Given the description of an element on the screen output the (x, y) to click on. 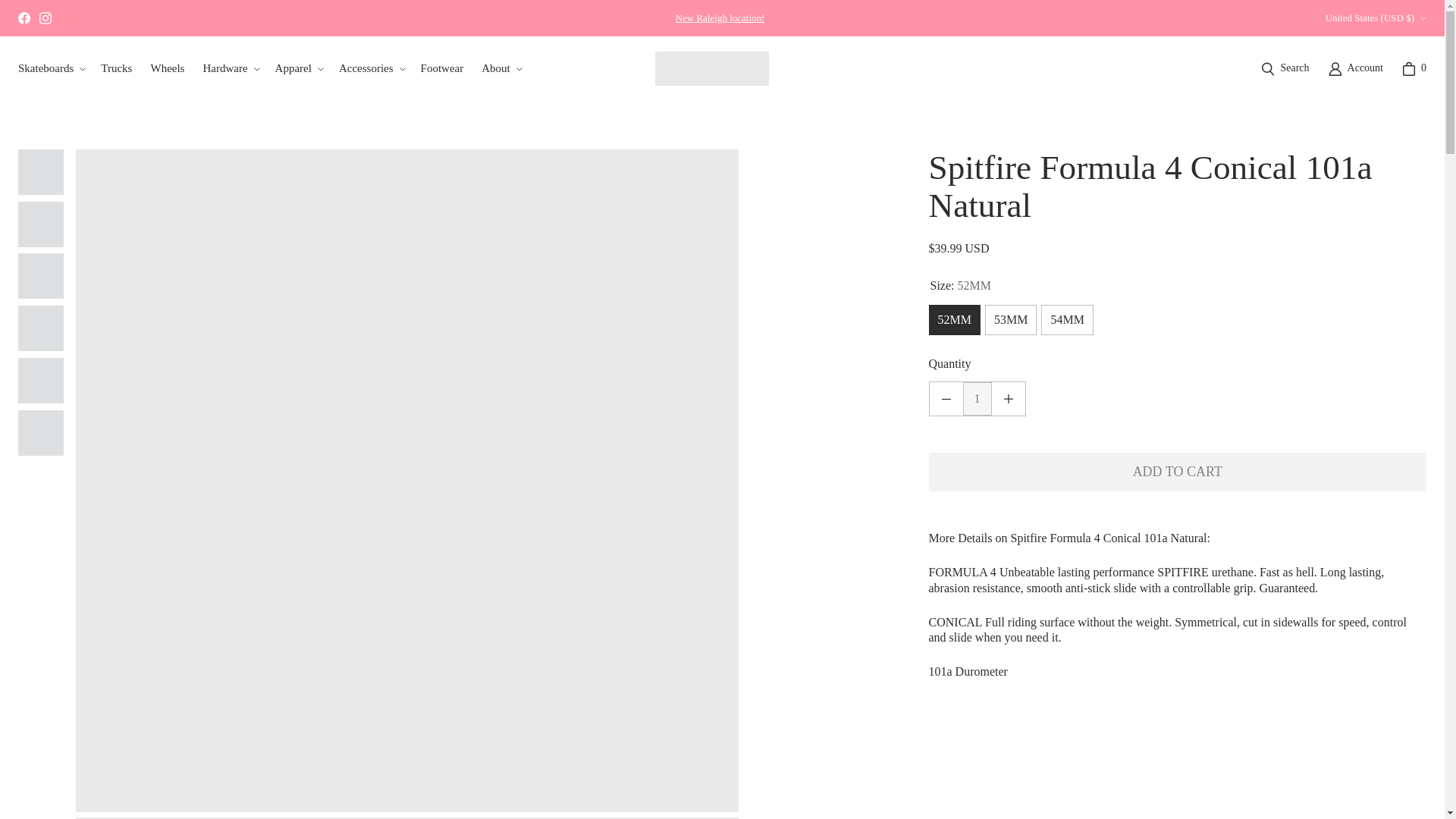
Trucks (116, 68)
New Raleigh location! (720, 17)
